Given the description of an element on the screen output the (x, y) to click on. 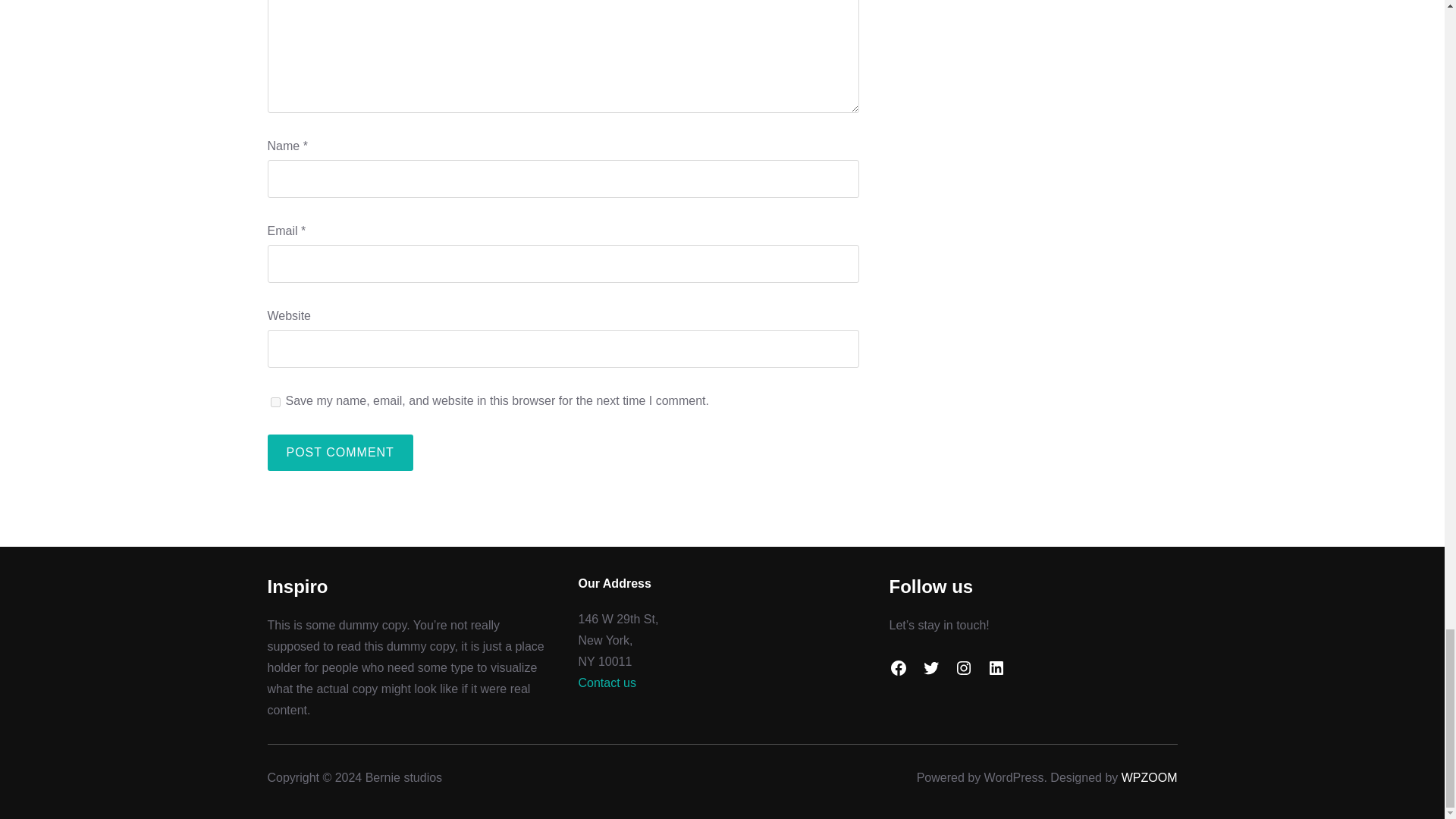
Contact us (606, 682)
LinkedIn (996, 668)
Twitter (930, 668)
Facebook (897, 668)
Instagram (962, 668)
WPZOOM (1149, 777)
Post Comment (339, 452)
Post Comment (339, 452)
